Given the description of an element on the screen output the (x, y) to click on. 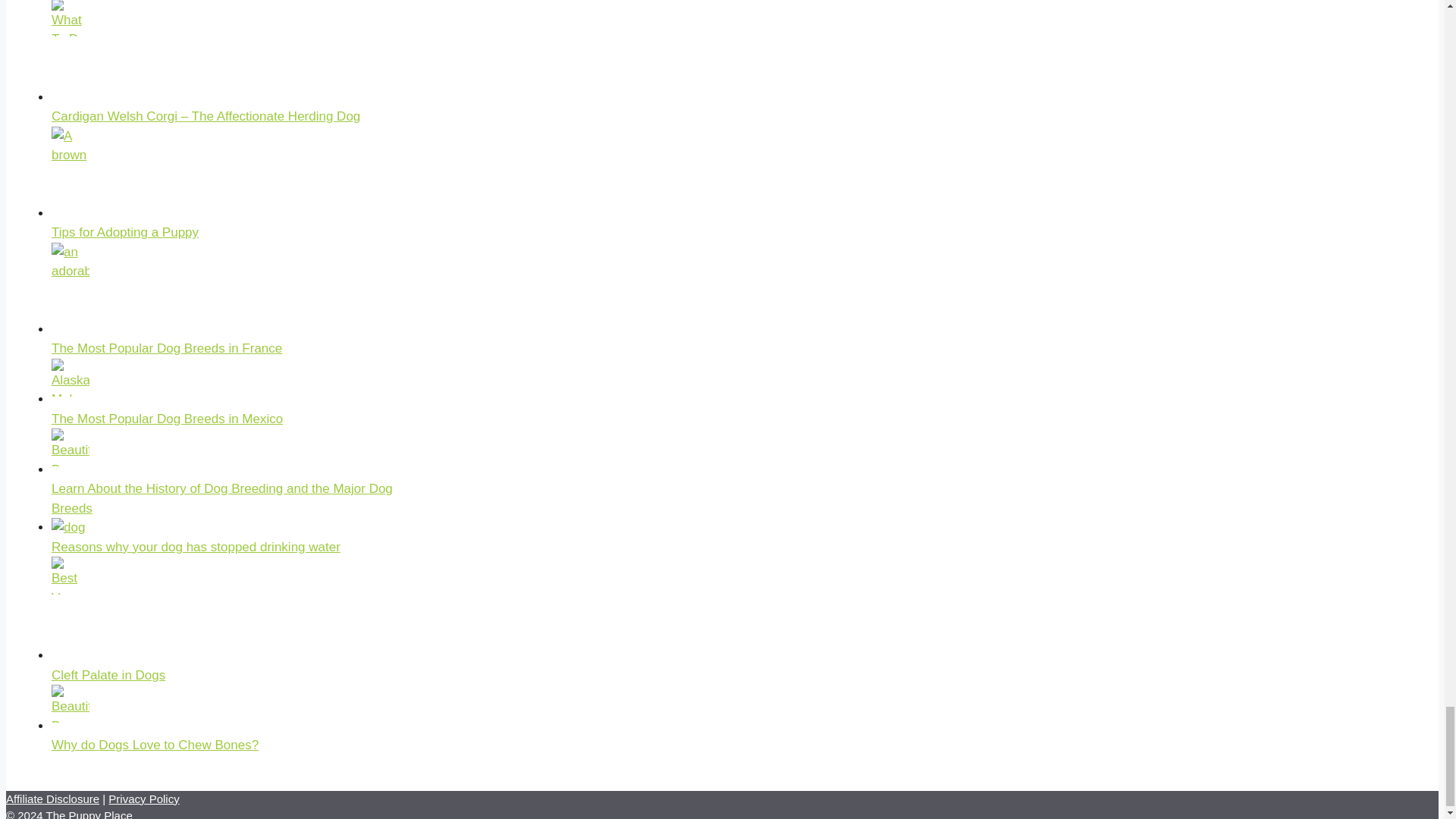
The Most Popular Dog Breeds in France (166, 348)
Reasons why your dog has stopped drinking water (195, 546)
The Most Popular Dog Breeds in Mexico (166, 418)
Cleft Palate in Dogs (107, 675)
Tips for Adopting a Puppy (124, 232)
